Given the description of an element on the screen output the (x, y) to click on. 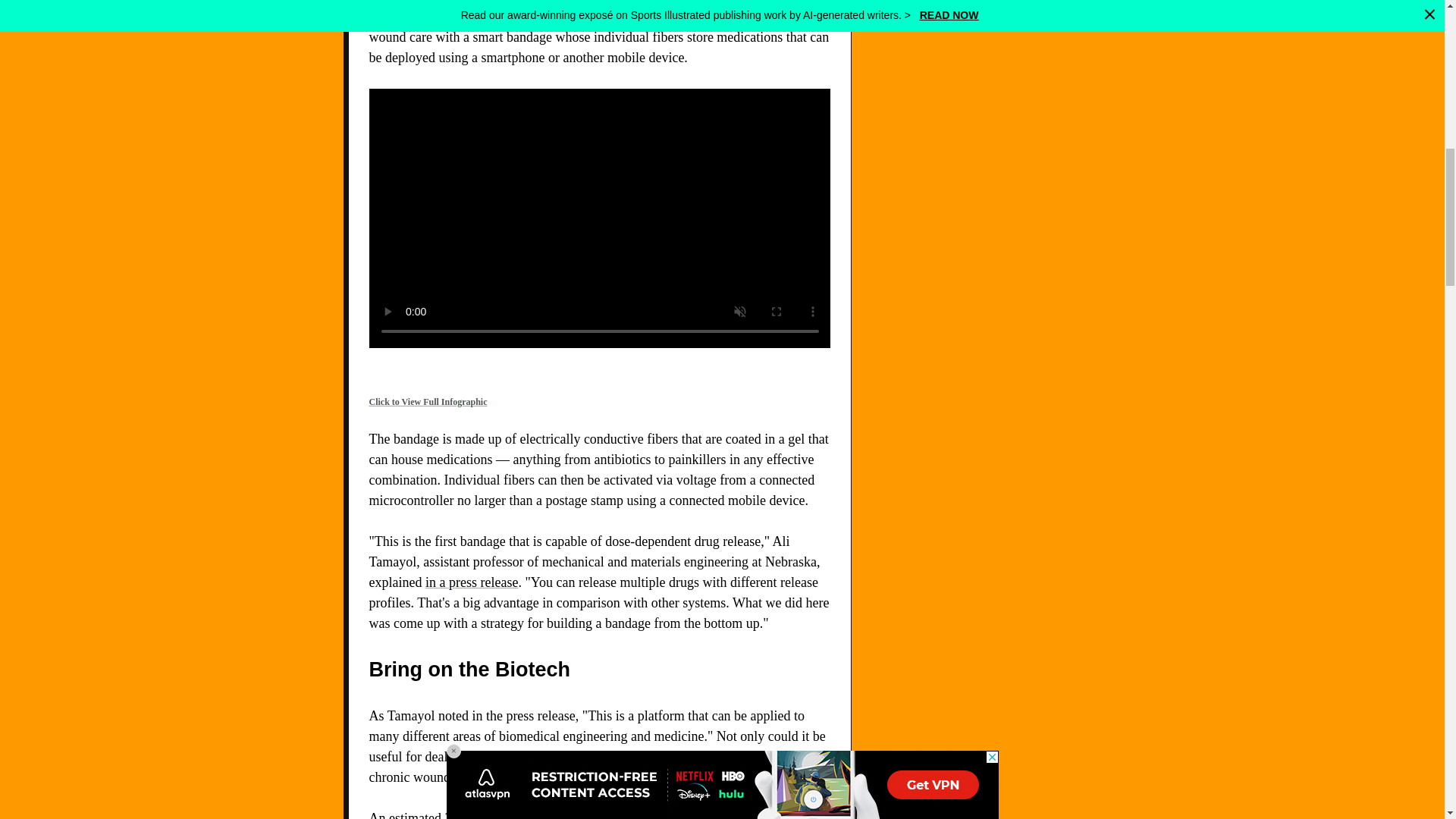
MIT (594, 16)
University of Nebraska-Lincoln (582, 12)
in a press release (471, 581)
Click to View Full Infographic (427, 401)
Harvard Medical School (486, 16)
